Given the description of an element on the screen output the (x, y) to click on. 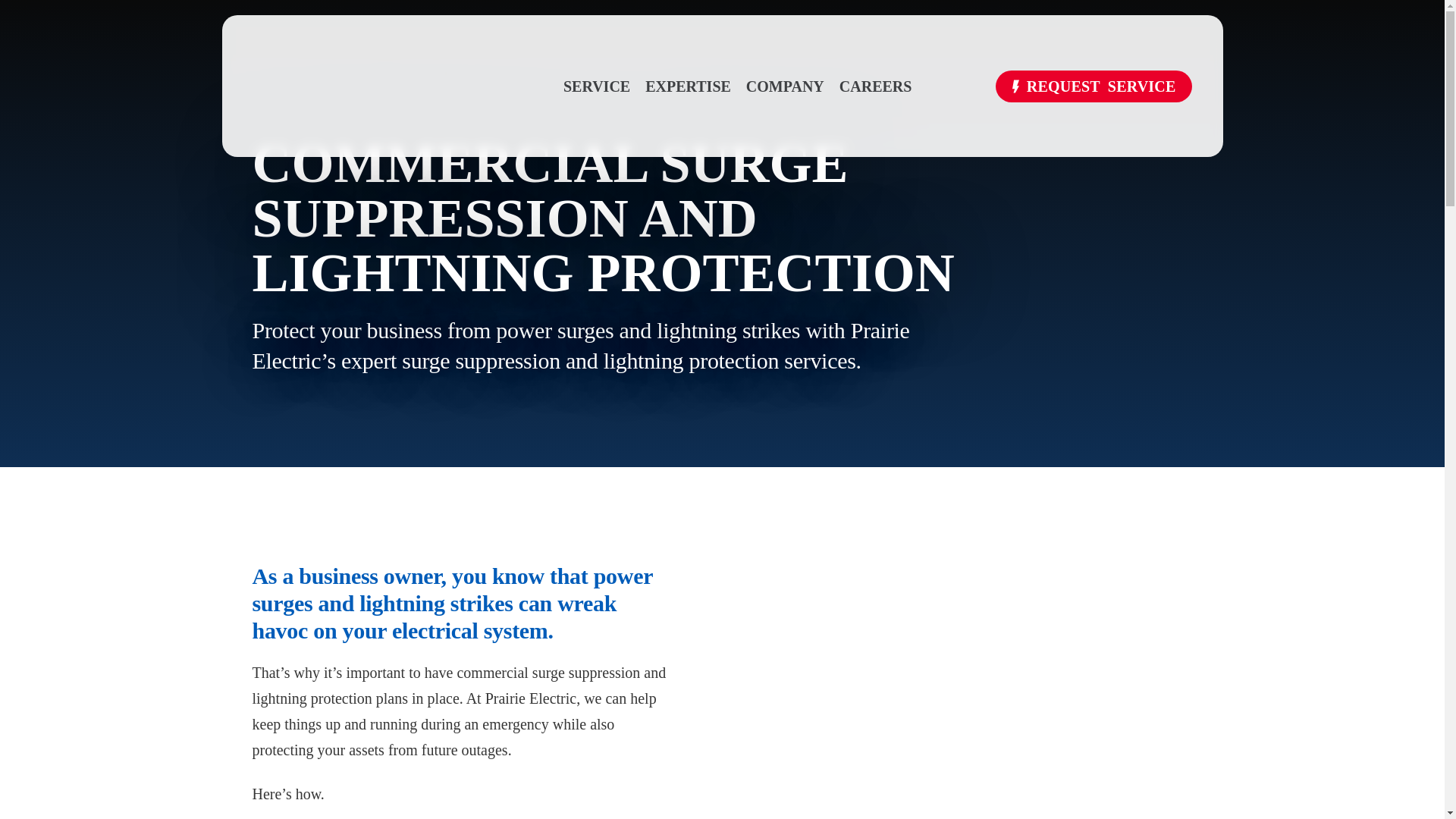
SERVICE (596, 85)
CAREERS (876, 85)
EXPERTISE (687, 85)
COMPANY (784, 85)
